Given the description of an element on the screen output the (x, y) to click on. 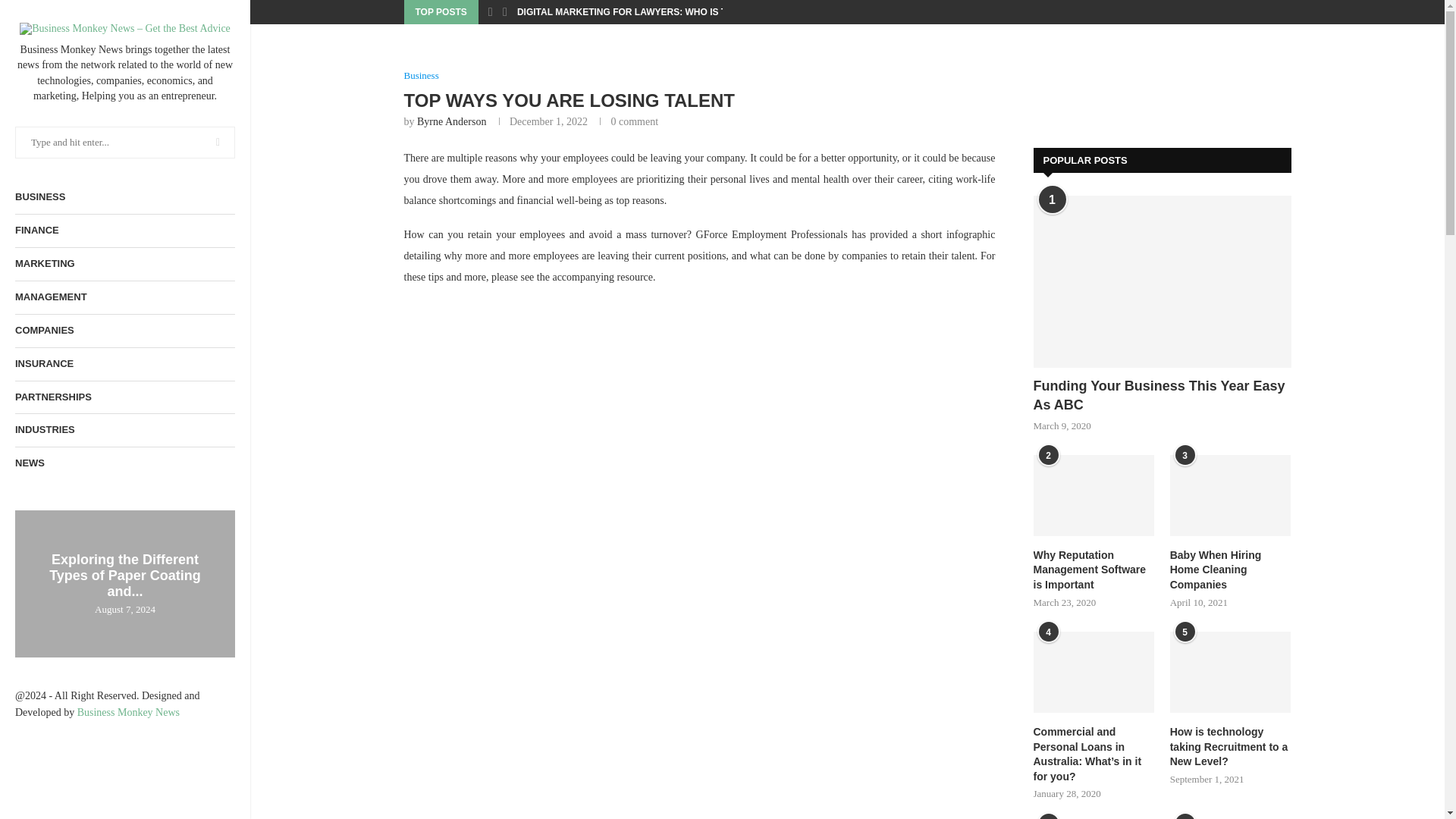
BUSINESS (124, 196)
PARTNERSHIPS (124, 397)
Business Monkey News (128, 712)
INSURANCE (124, 364)
Business (420, 75)
INDUSTRIES (124, 430)
COMPANIES (124, 330)
FINANCE (124, 230)
Byrne Anderson (451, 121)
